Given the description of an element on the screen output the (x, y) to click on. 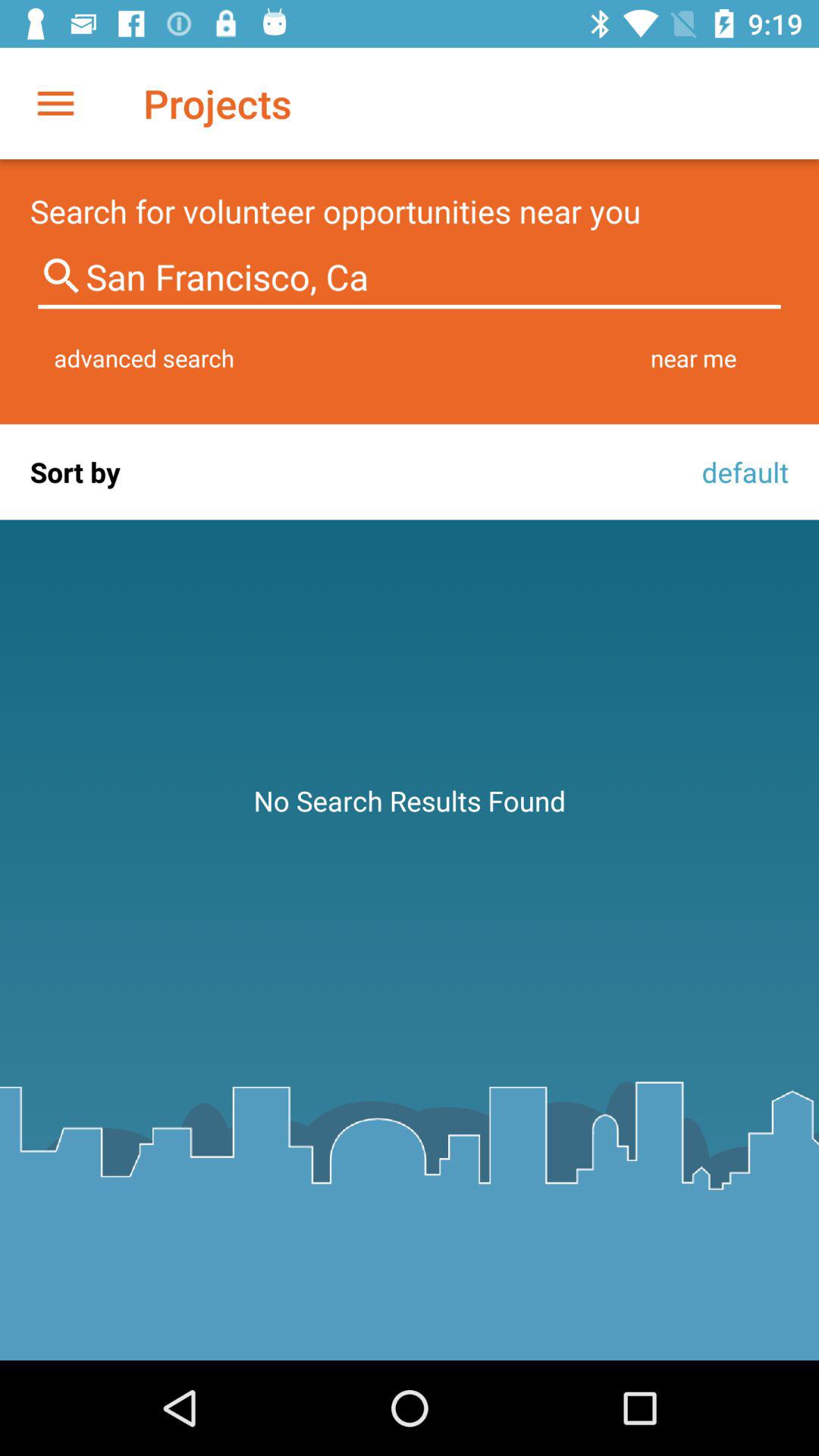
flip until the near me (692, 358)
